Given the description of an element on the screen output the (x, y) to click on. 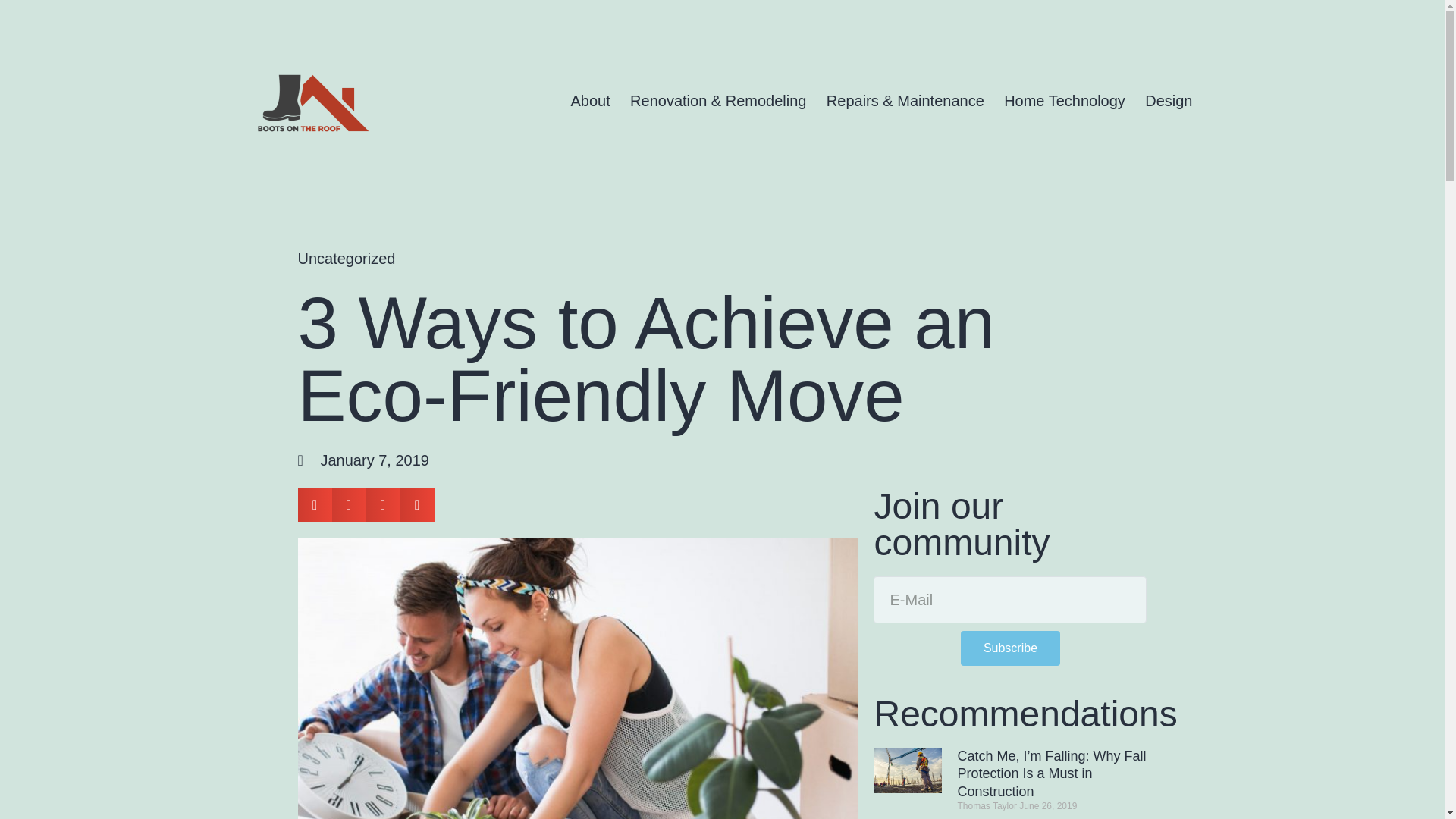
Uncategorized (345, 258)
Design (1168, 99)
Subscribe (1009, 647)
About (590, 99)
January 7, 2019 (362, 460)
Home Technology (1064, 99)
